Given the description of an element on the screen output the (x, y) to click on. 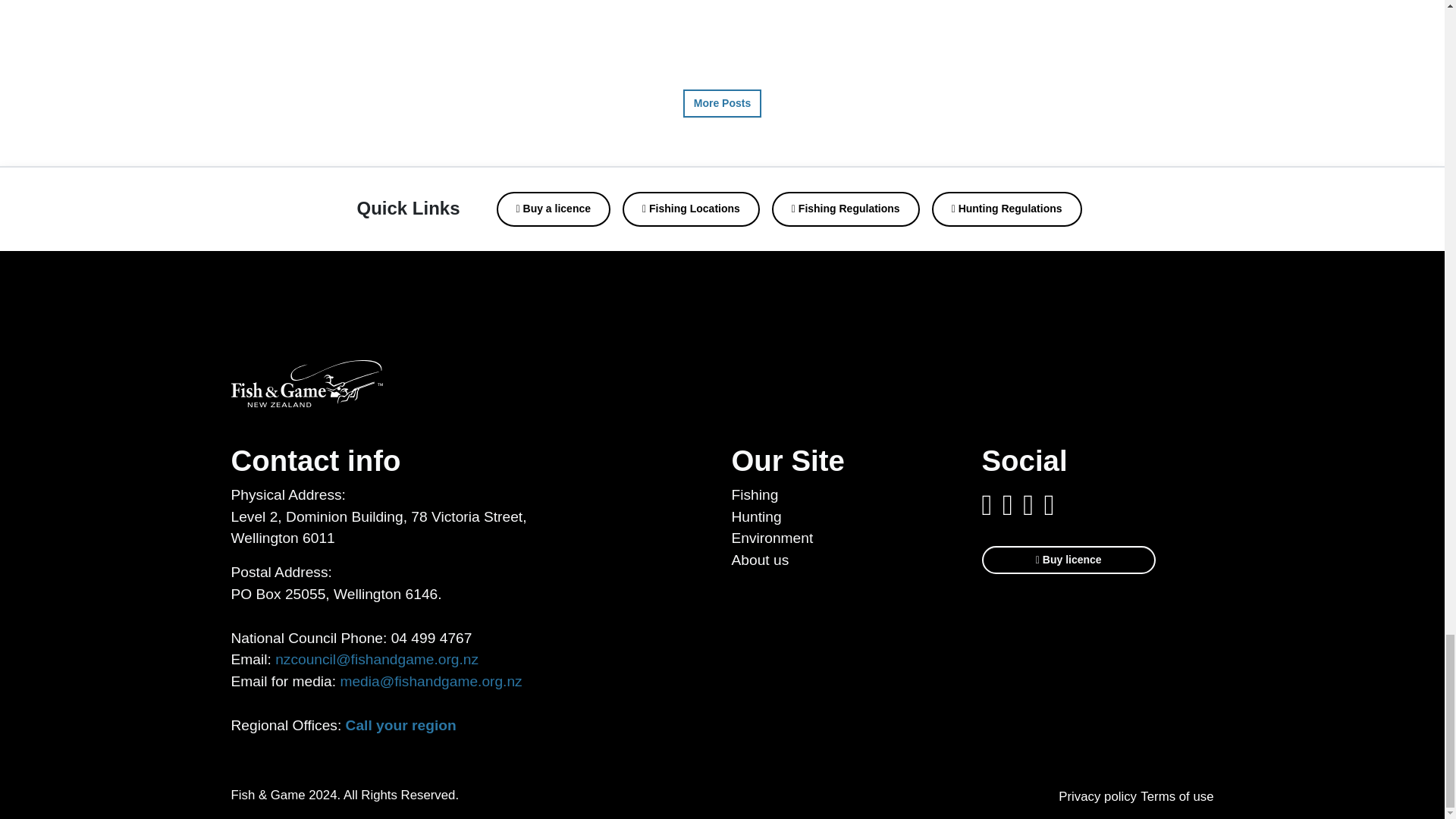
Buy a licence (553, 208)
Fishing Locations (691, 208)
Buy licence (1068, 560)
Environment (771, 537)
More Posts (721, 103)
About us (759, 560)
Hunting (755, 516)
Hunting Regulations (1006, 208)
Fishing Regulations (845, 208)
Call your region (401, 725)
